Given the description of an element on the screen output the (x, y) to click on. 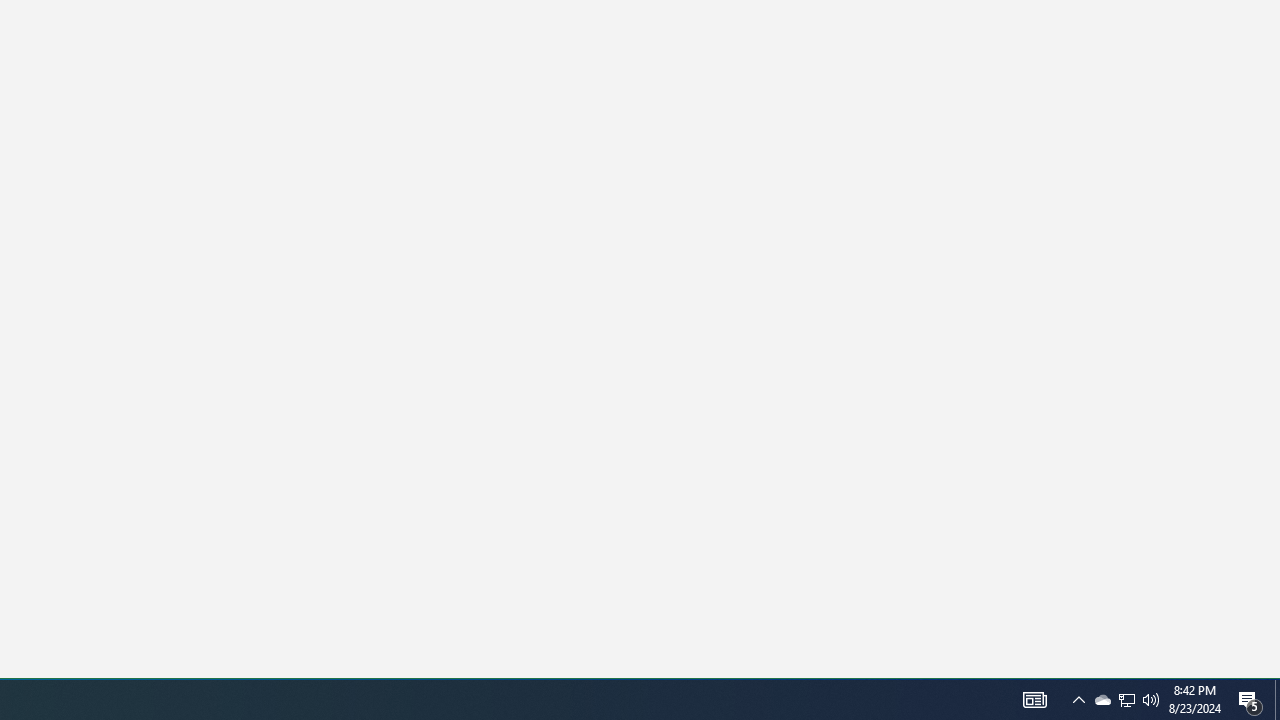
AutomationID: 4105 (1034, 699)
User Promoted Notification Area (1126, 699)
Q2790: 100% (1151, 699)
Action Center, 5 new notifications (1250, 699)
Notification Chevron (1078, 699)
Show desktop (1102, 699)
